Given the description of an element on the screen output the (x, y) to click on. 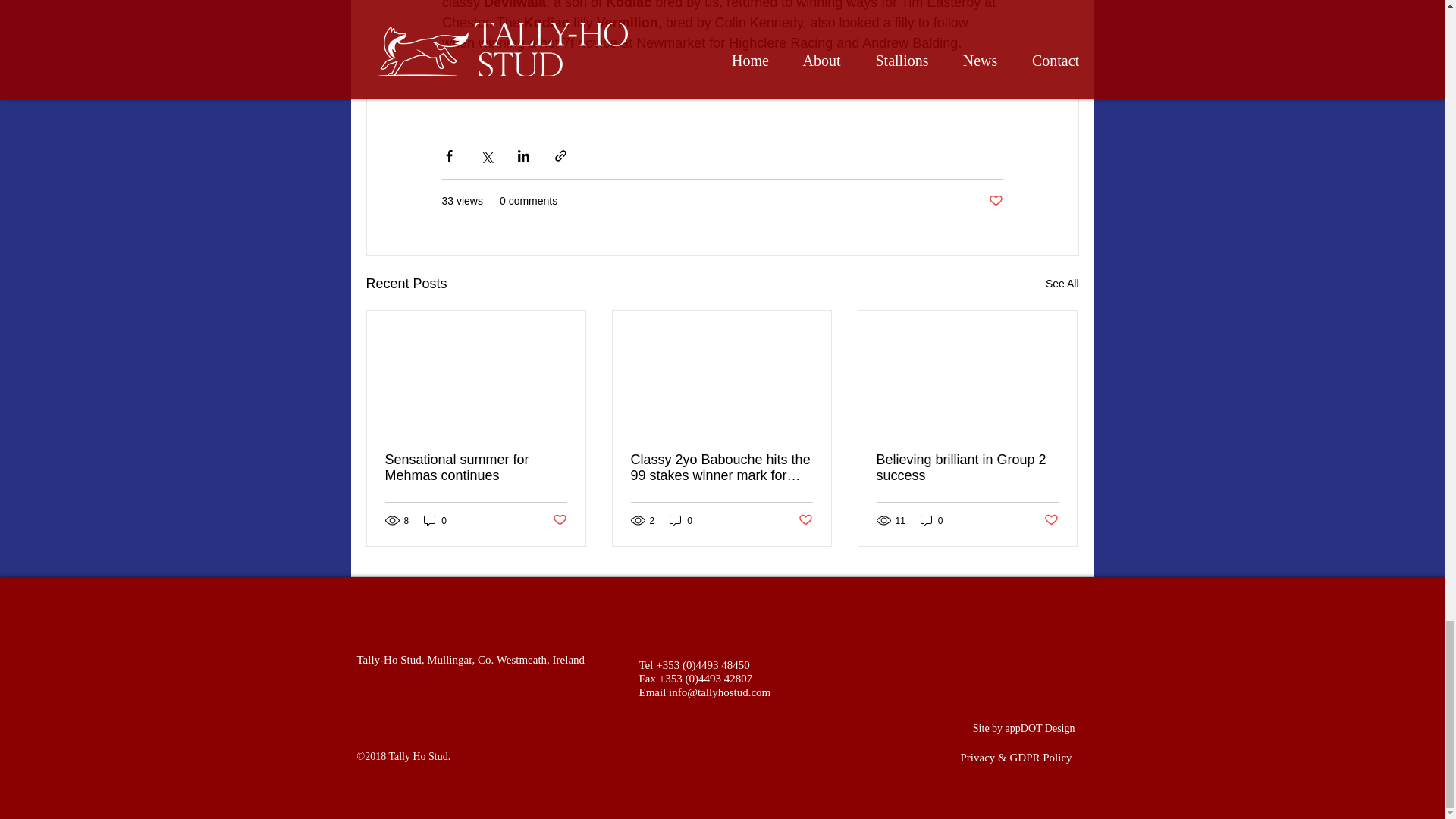
0 (681, 520)
Believing brilliant in Group 2 success (967, 468)
Sensational summer for Mehmas continues (476, 468)
Post not marked as liked (558, 520)
Post not marked as liked (995, 201)
0 (931, 520)
Post not marked as liked (804, 520)
Post not marked as liked (1050, 520)
See All (1061, 283)
Site by appDOT Design (1023, 727)
0 (435, 520)
